Given the description of an element on the screen output the (x, y) to click on. 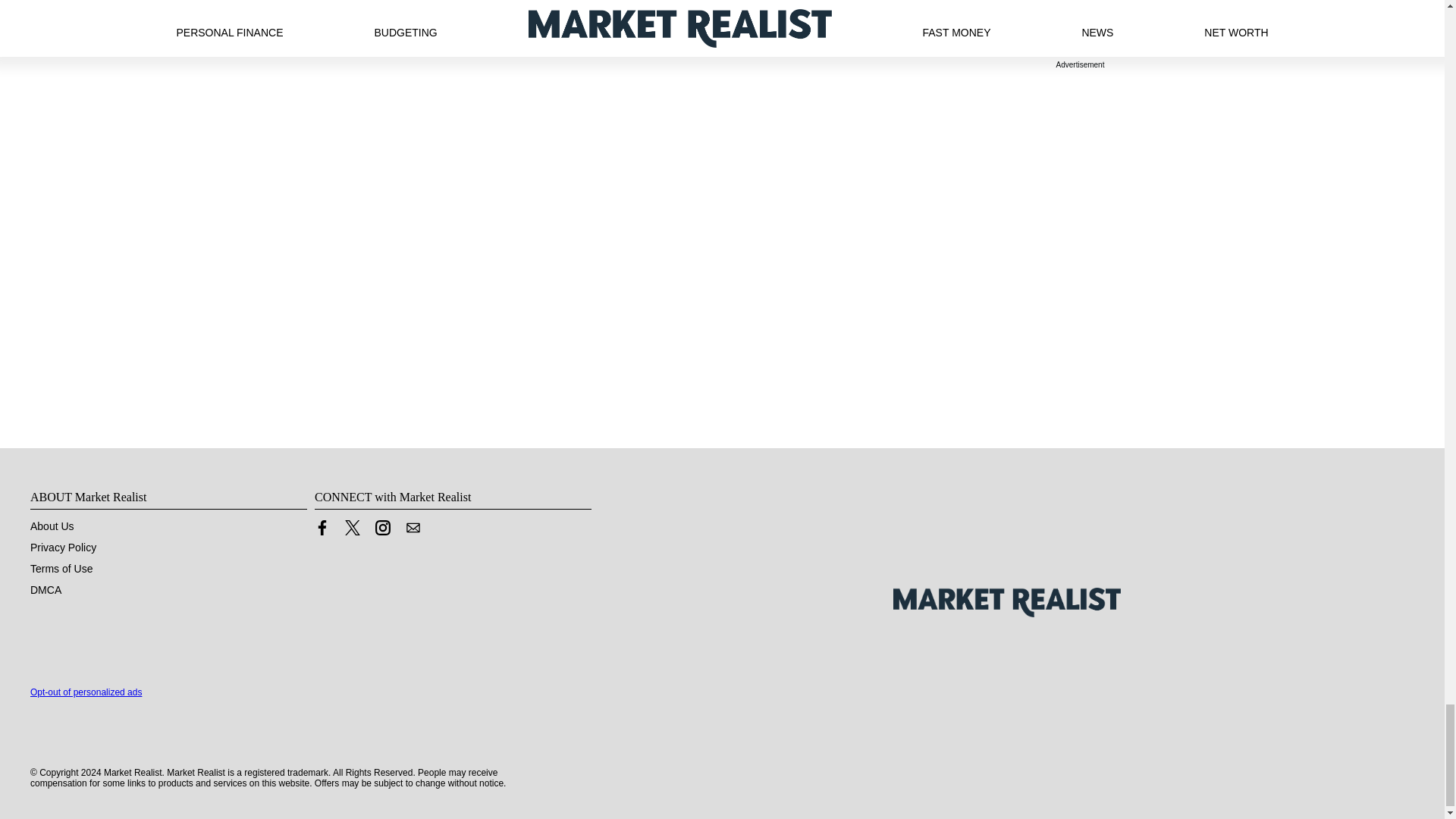
Link to X (352, 527)
Privacy Policy (63, 547)
Opt-out of personalized ads (85, 692)
Link to Instagram (382, 531)
Link to Facebook (322, 531)
Contact us by Email (413, 531)
DMCA (45, 589)
Link to Facebook (322, 527)
Link to X (352, 531)
Privacy Policy (63, 547)
Link to Instagram (382, 527)
About Us (52, 526)
Terms of Use (61, 568)
Contact us by Email (413, 527)
About Us (52, 526)
